Given the description of an element on the screen output the (x, y) to click on. 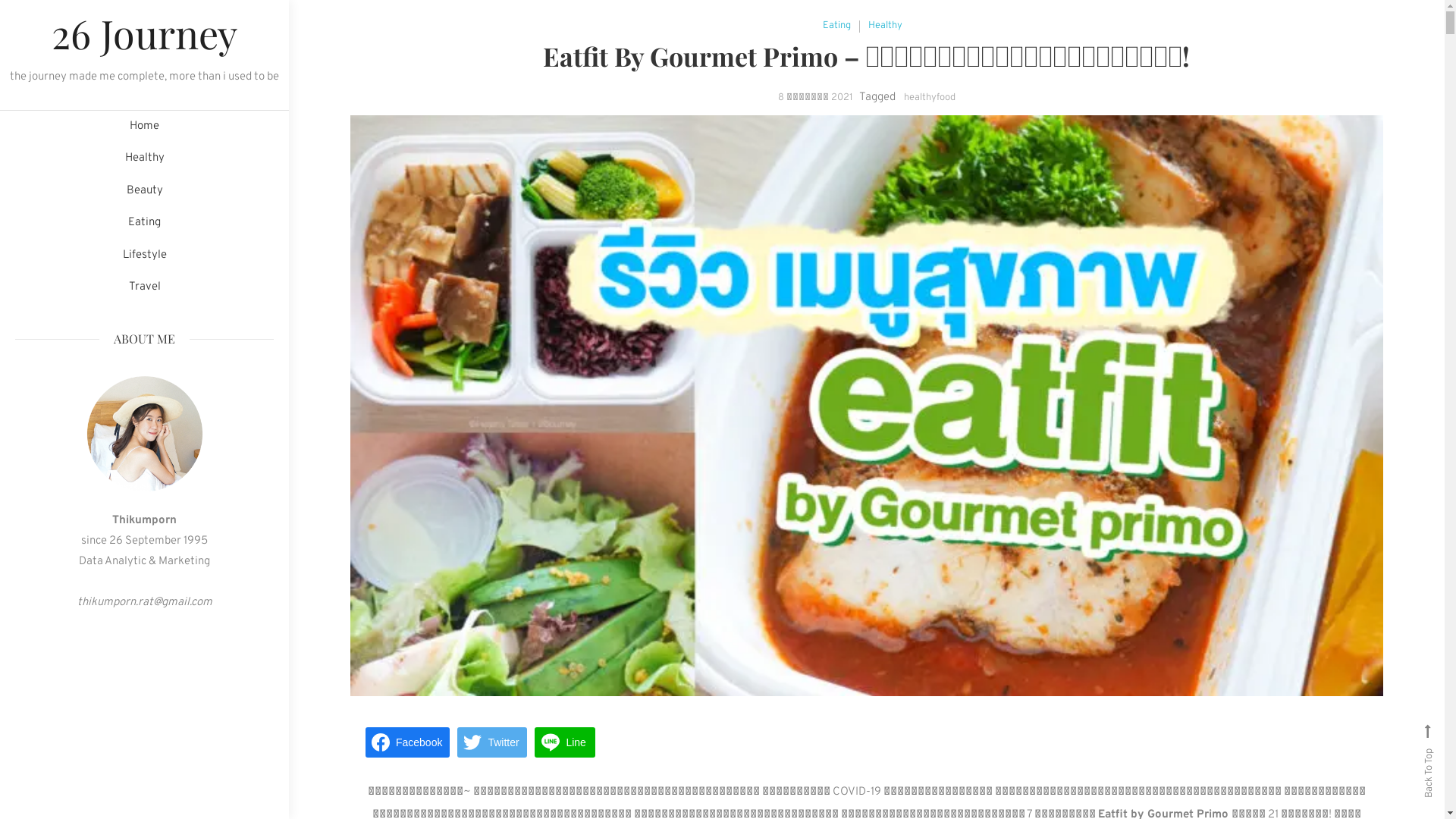
Twitter Element type: text (491, 742)
Facebook Element type: text (407, 742)
Eating Element type: text (836, 25)
Travel Element type: text (144, 287)
Beauty Element type: text (144, 191)
Eating Element type: text (144, 223)
Line Element type: text (564, 742)
26 Journey Element type: text (144, 32)
Home Element type: text (144, 126)
healthyfood Element type: text (929, 97)
Healthy Element type: text (885, 25)
Lifestyle Element type: text (144, 255)
Healthy Element type: text (144, 158)
